Given the description of an element on the screen output the (x, y) to click on. 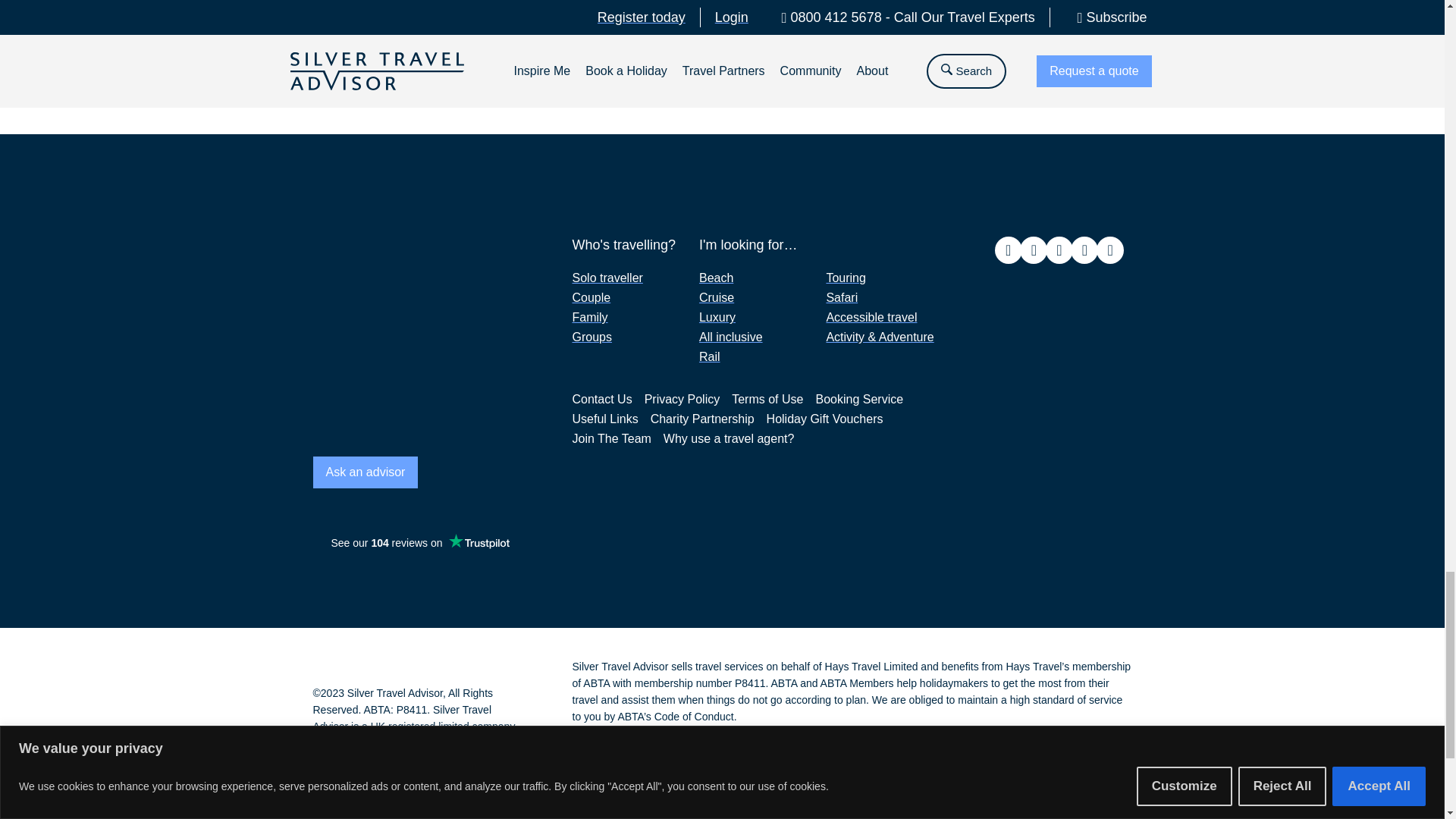
Customer reviews powered by Trustpilot (419, 542)
